Given the description of an element on the screen output the (x, y) to click on. 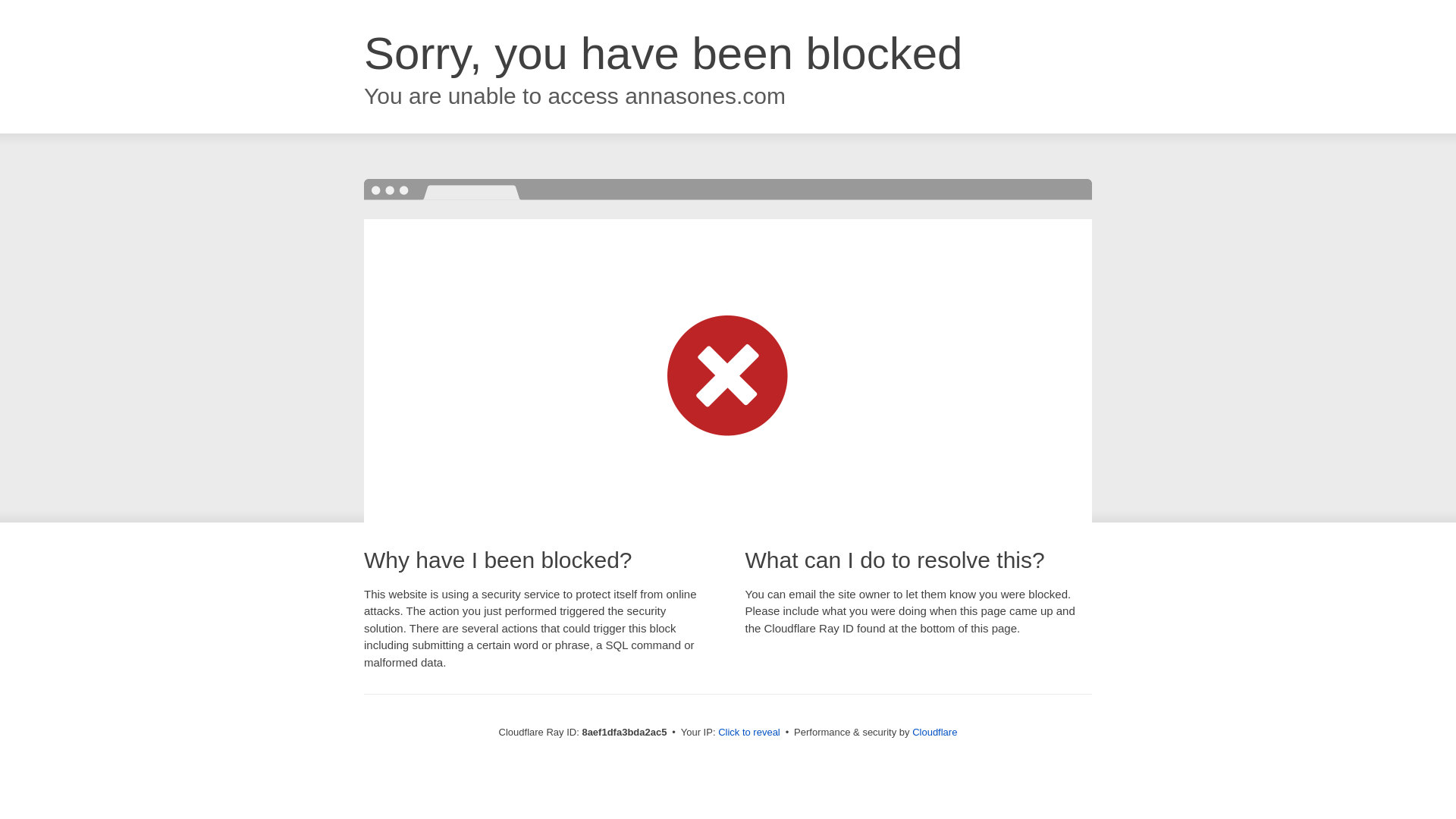
Cloudflare (934, 731)
Click to reveal (748, 732)
